Given the description of an element on the screen output the (x, y) to click on. 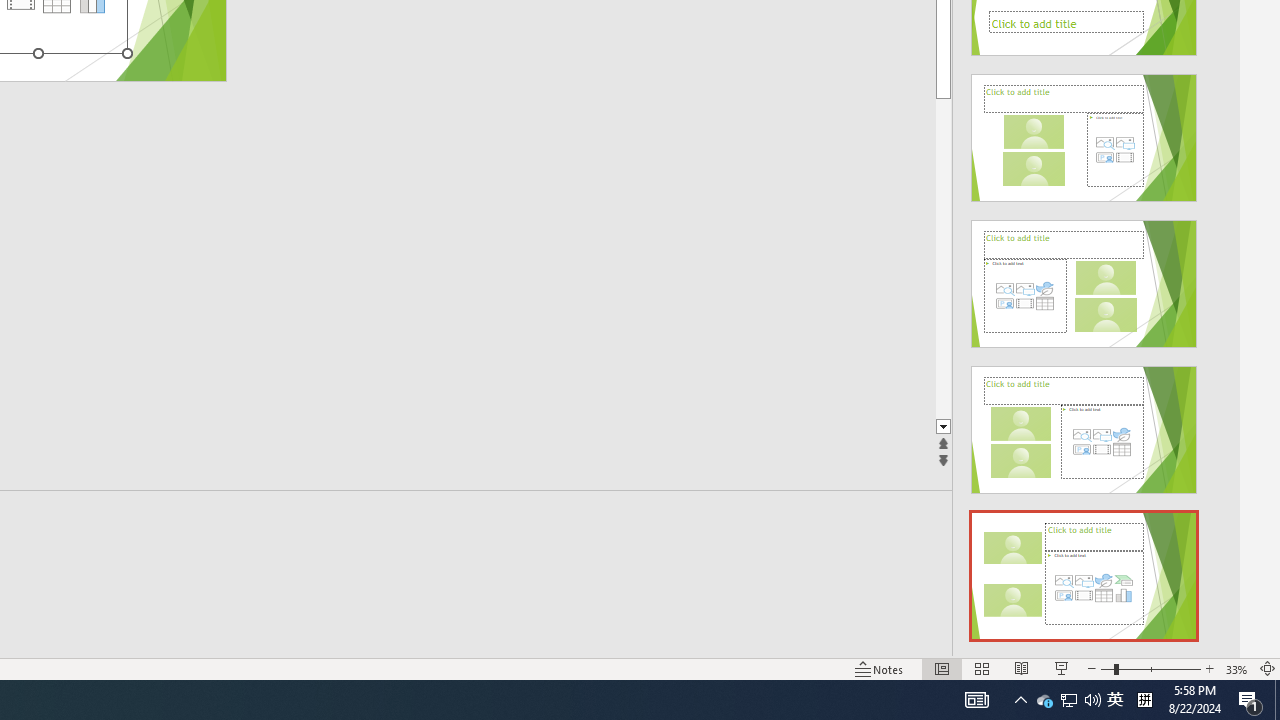
Design Idea (1083, 569)
Zoom 33% (1236, 668)
